Given the description of an element on the screen output the (x, y) to click on. 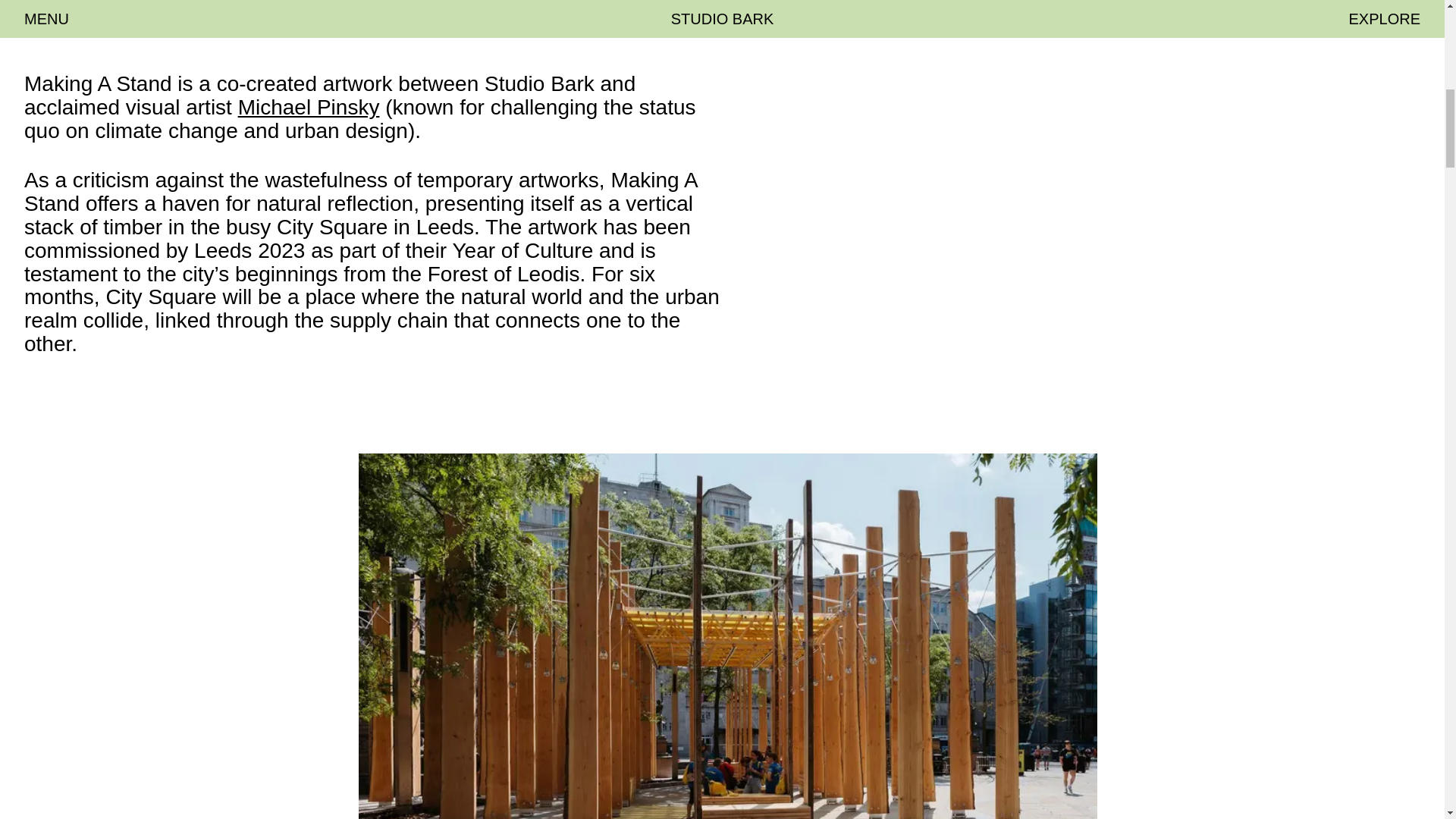
Michael Pinsky (309, 106)
